Given the description of an element on the screen output the (x, y) to click on. 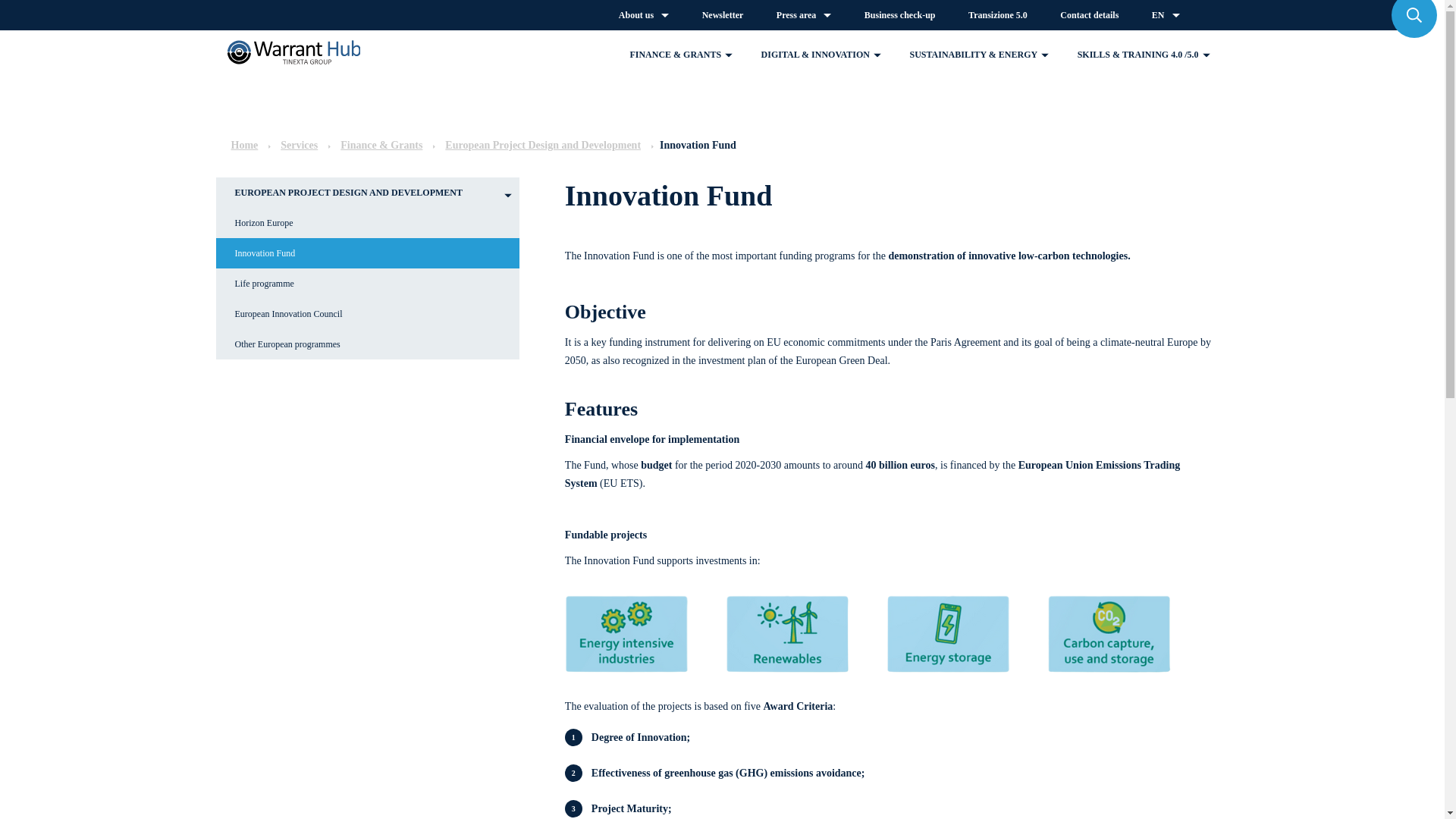
Business check-up (899, 15)
Transizione 5.0 (997, 15)
Contact details (1089, 15)
Newsletter (722, 15)
About us (644, 15)
